Given the description of an element on the screen output the (x, y) to click on. 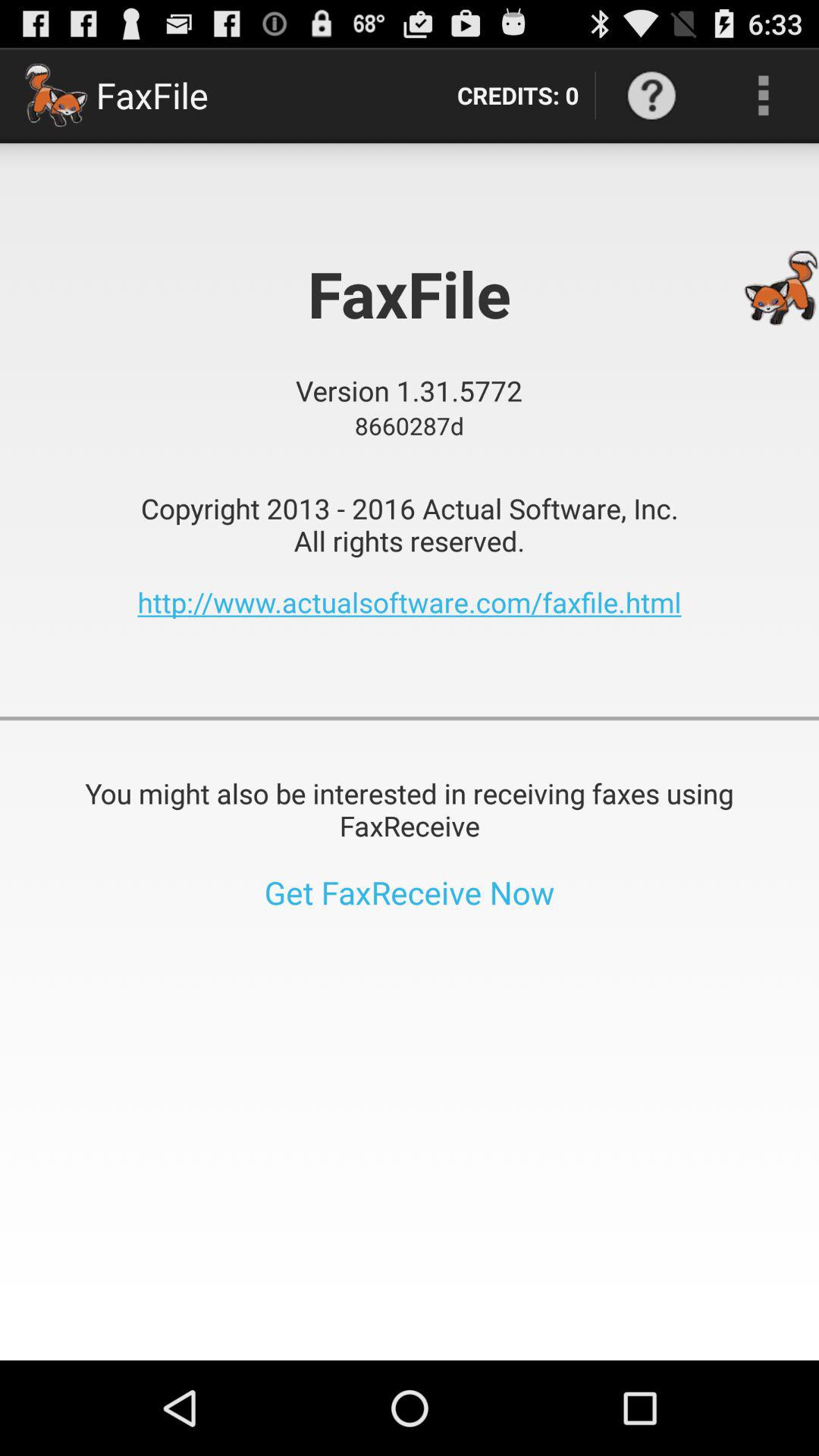
scroll to the http www actualsoftware (409, 602)
